Given the description of an element on the screen output the (x, y) to click on. 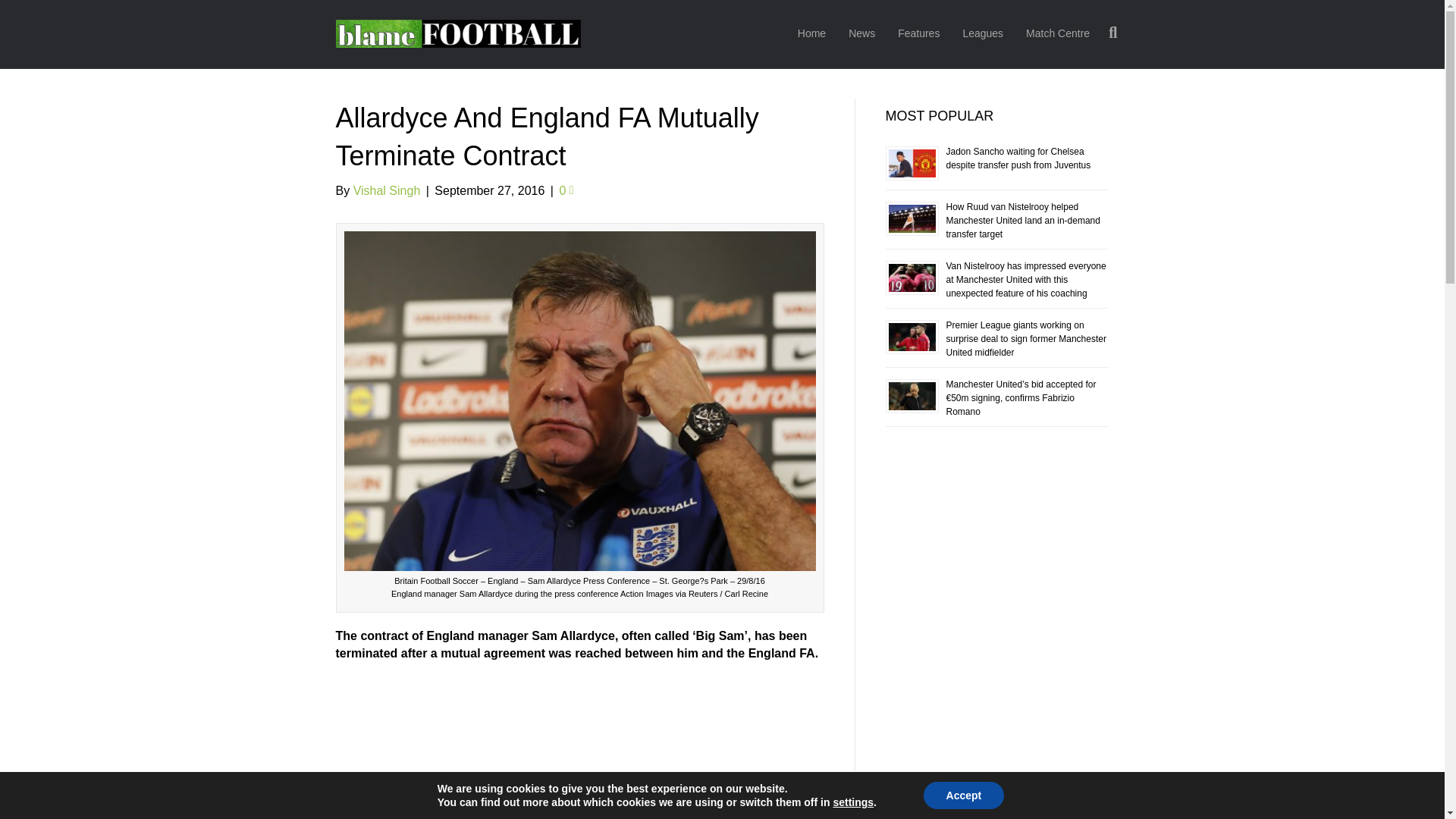
News (861, 34)
Home (811, 34)
Match Centre (1057, 34)
Advertisement (579, 744)
Leagues (982, 34)
Features (918, 34)
